Given the description of an element on the screen output the (x, y) to click on. 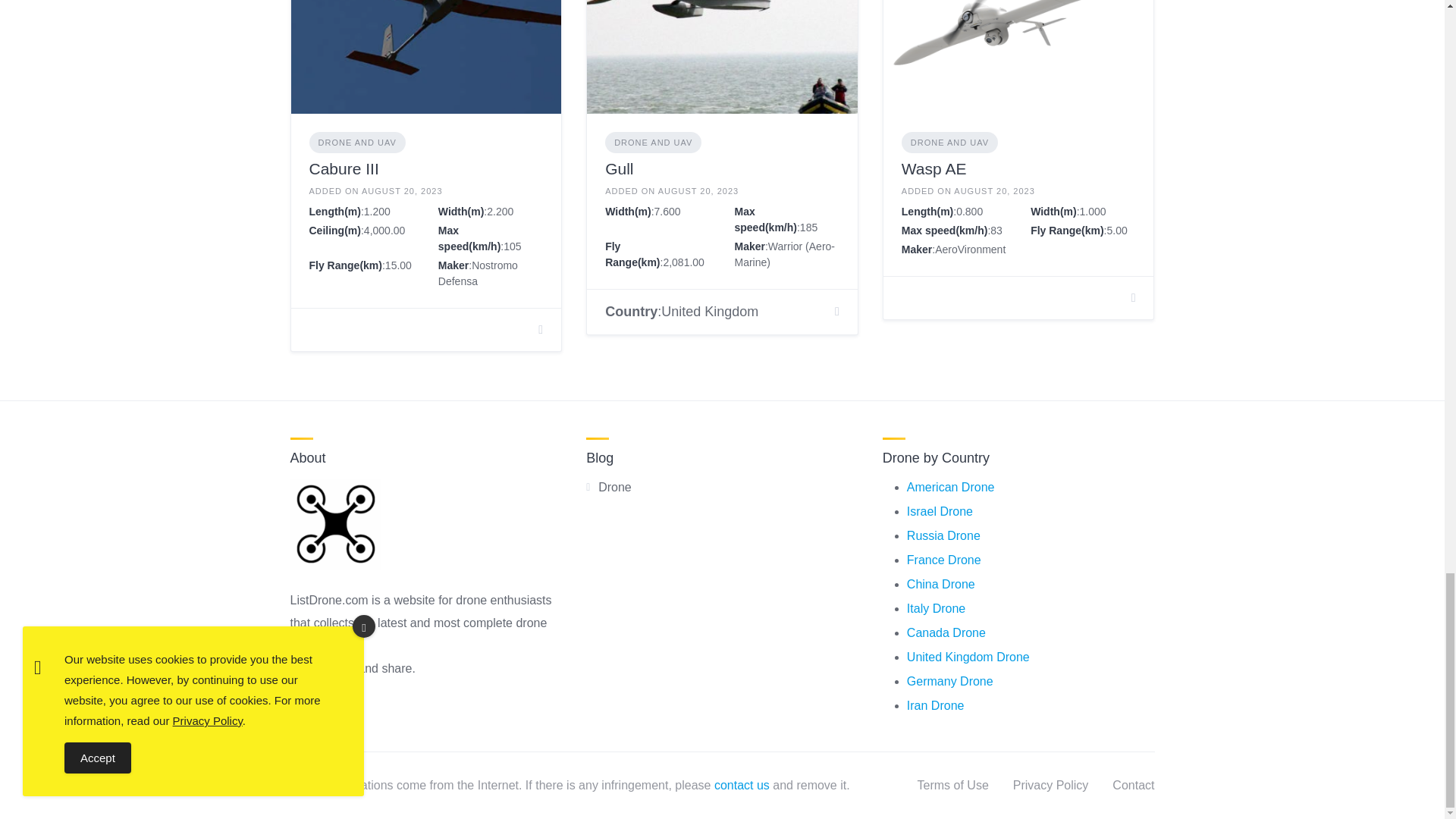
Gull (619, 168)
American Drone (950, 486)
Drone (614, 486)
Israel Drone (939, 511)
DRONE AND UAV (357, 142)
Wasp AE (933, 168)
Cabure III (343, 168)
DRONE AND UAV (949, 142)
DRONE AND UAV (653, 142)
